Given the description of an element on the screen output the (x, y) to click on. 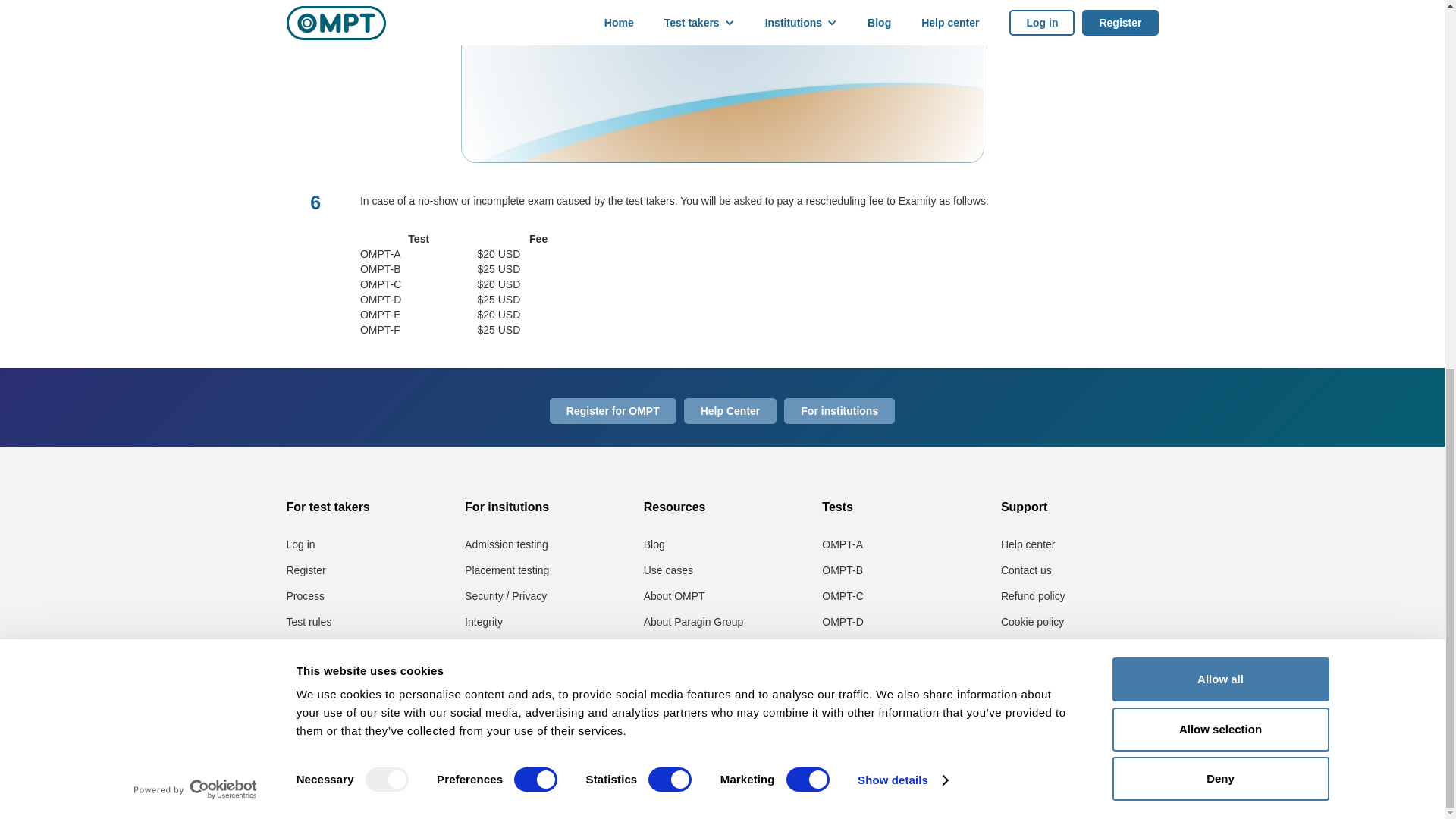
Show details (902, 111)
Allow all (1219, 16)
Allow selection (1219, 60)
Deny (1219, 110)
